Given the description of an element on the screen output the (x, y) to click on. 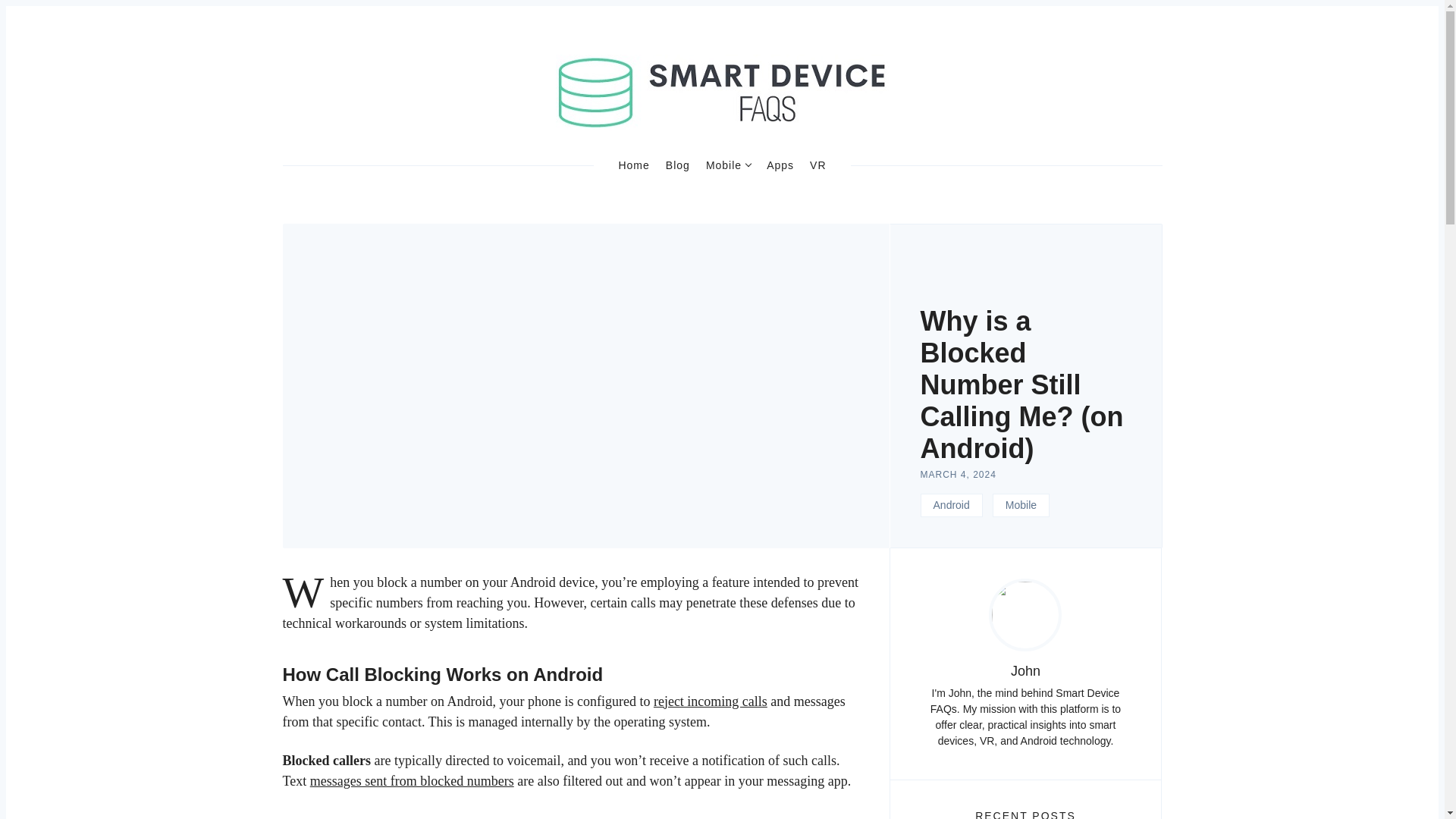
messages sent from blocked numbers (411, 780)
Mobile (1020, 504)
John (1025, 670)
reject incoming calls (710, 700)
Android (951, 504)
Mobile (728, 165)
